Given the description of an element on the screen output the (x, y) to click on. 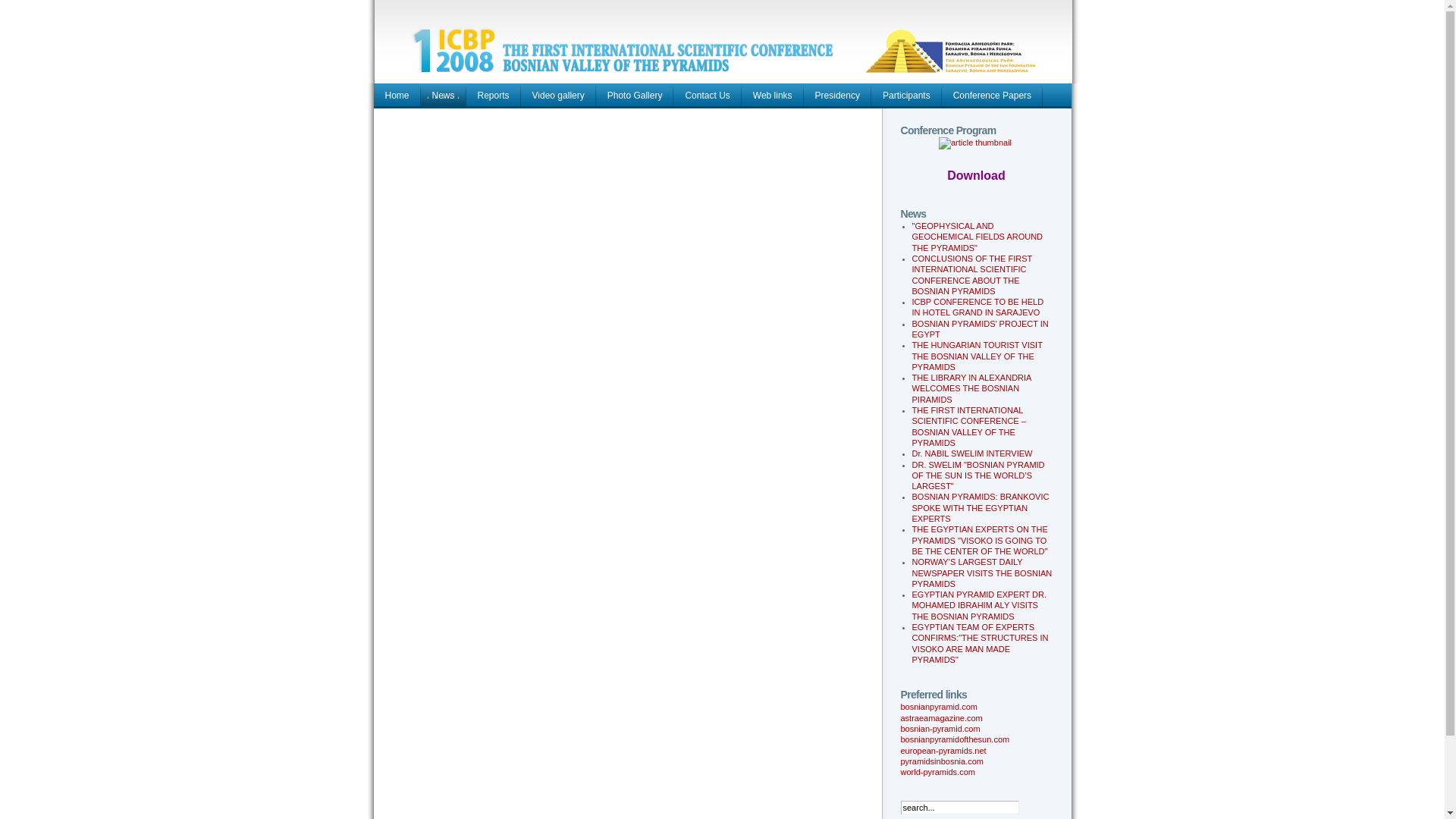
THE LIBRARY IN ALEXANDRIA WELCOMES THE BOSNIAN PIRAMIDS Element type: text (970, 388)
pyramidsinbosnia.com Element type: text (941, 760)
Contact Us Element type: text (706, 95)
News Element type: text (443, 95)
"GEOPHYSICAL AND GEOCHEMICAL FIELDS AROUND THE PYRAMIDS" Element type: text (976, 236)
bosnian-pyramid.com Element type: text (940, 728)
bosnianpyramidofthesun.com Element type: text (955, 738)
european-pyramids.net Element type: text (943, 750)
Download Element type: text (975, 176)
BOSNIAN PYRAMIDS: BRANKOVIC SPOKE WITH THE EGYPTIAN EXPERTS Element type: text (979, 507)
Dr. NABIL SWELIM INTERVIEW Element type: text (971, 453)
bosnianpyramid.com Element type: text (939, 706)
astraeamagazine.com Element type: text (941, 717)
Home Element type: text (396, 95)
Photo Gallery Element type: text (635, 95)
ICBP CONFERENCE TO BE HELD IN HOTEL GRAND IN SARAJEVO Element type: text (977, 306)
Reports Element type: text (493, 95)
Presidency Element type: text (837, 95)
Web links Element type: text (772, 95)
Video gallery Element type: text (558, 95)
Participants Element type: text (906, 95)
Conference Papers Element type: text (991, 95)
world-pyramids.com Element type: text (937, 771)
